Given the description of an element on the screen output the (x, y) to click on. 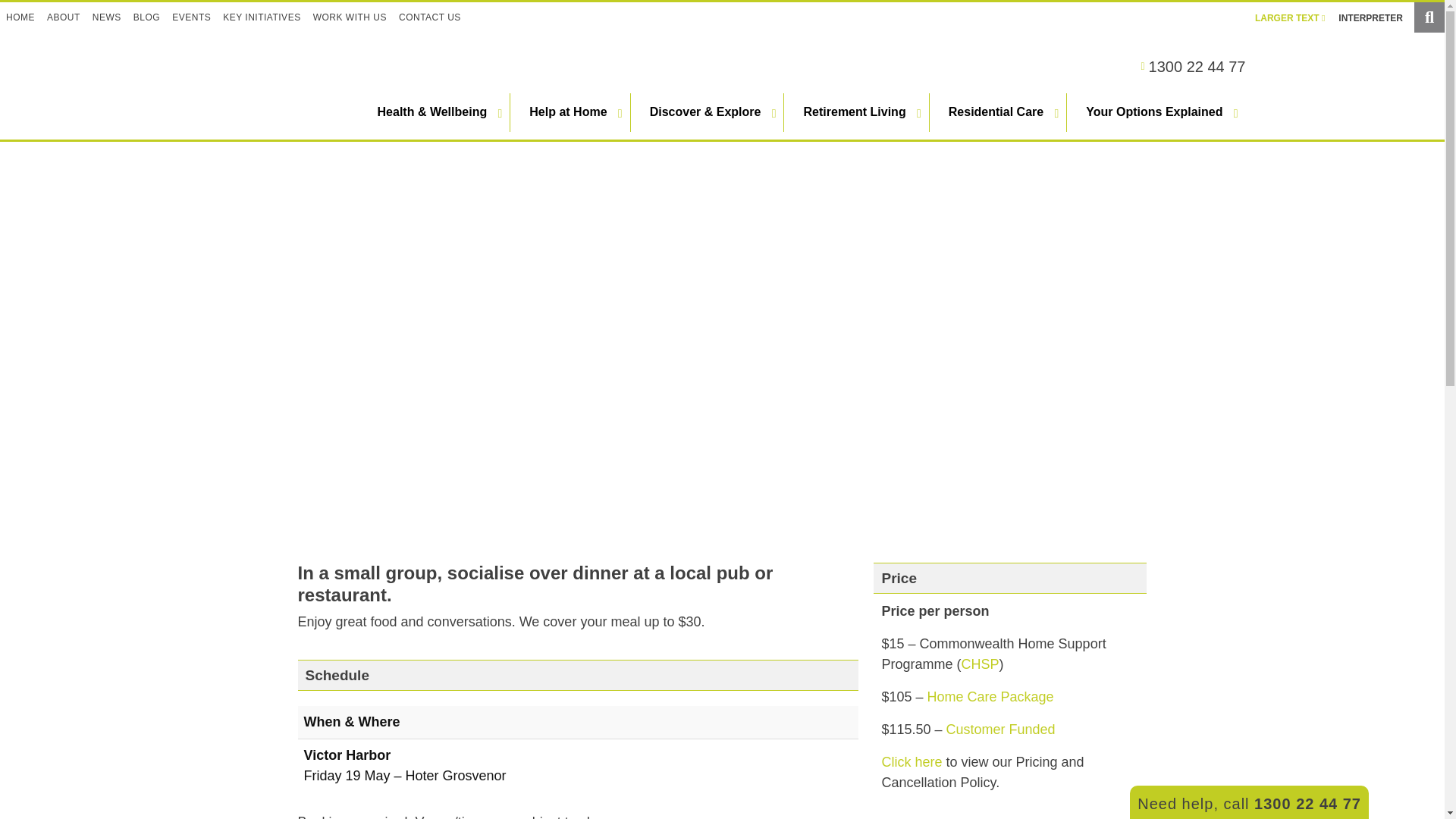
KEY INITIATIVES (260, 17)
ABOUT (62, 17)
HOME (20, 17)
NEWS (106, 17)
EVENTS (190, 17)
BLOG (146, 17)
